Given the description of an element on the screen output the (x, y) to click on. 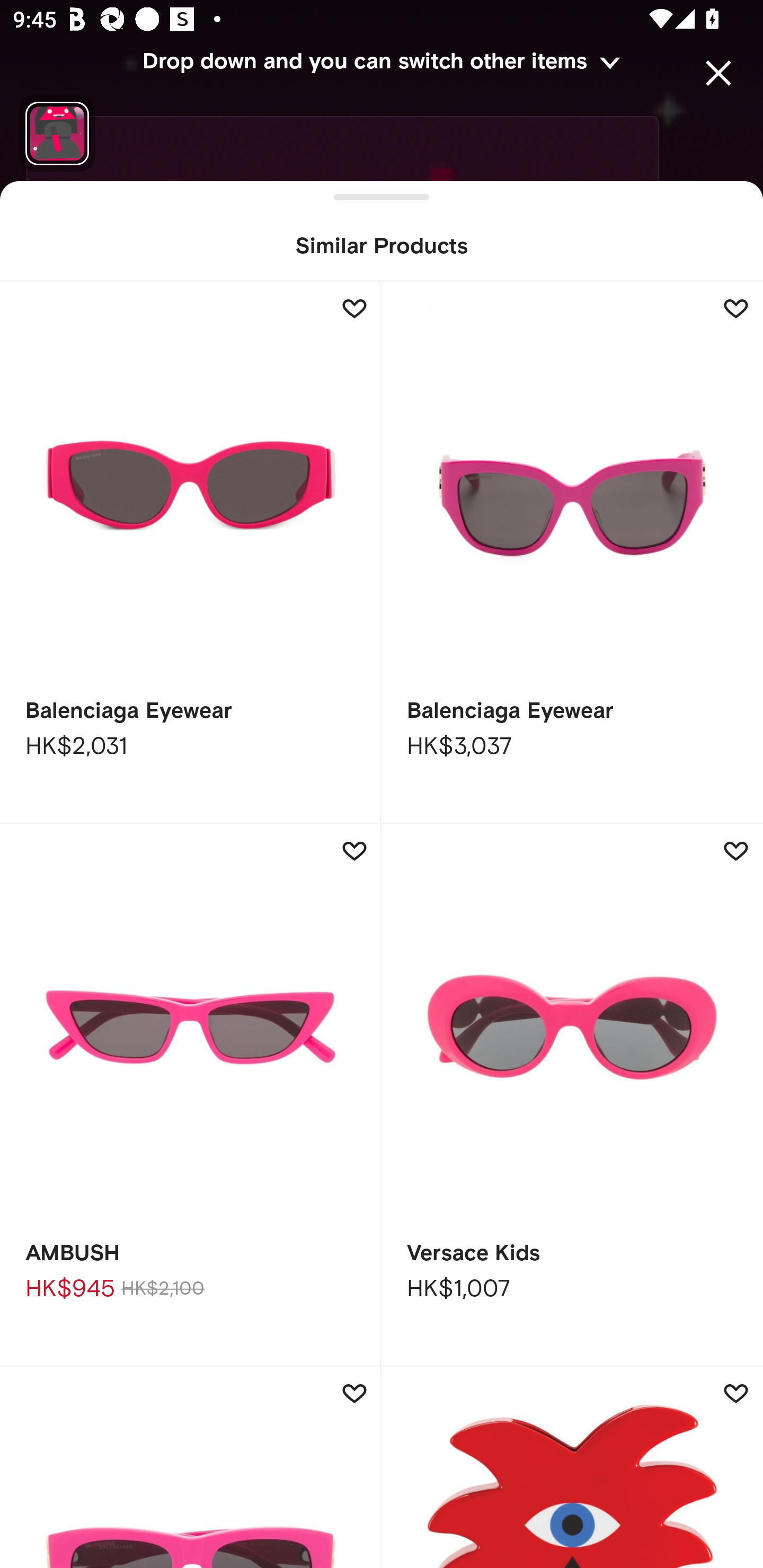
Balenciaga Eyewear HK$2,031 (190, 553)
Balenciaga Eyewear HK$3,037 (572, 553)
AMBUSH HK$945 HK$2,100 (190, 1095)
Versace Kids HK$1,007 (572, 1095)
